Given the description of an element on the screen output the (x, y) to click on. 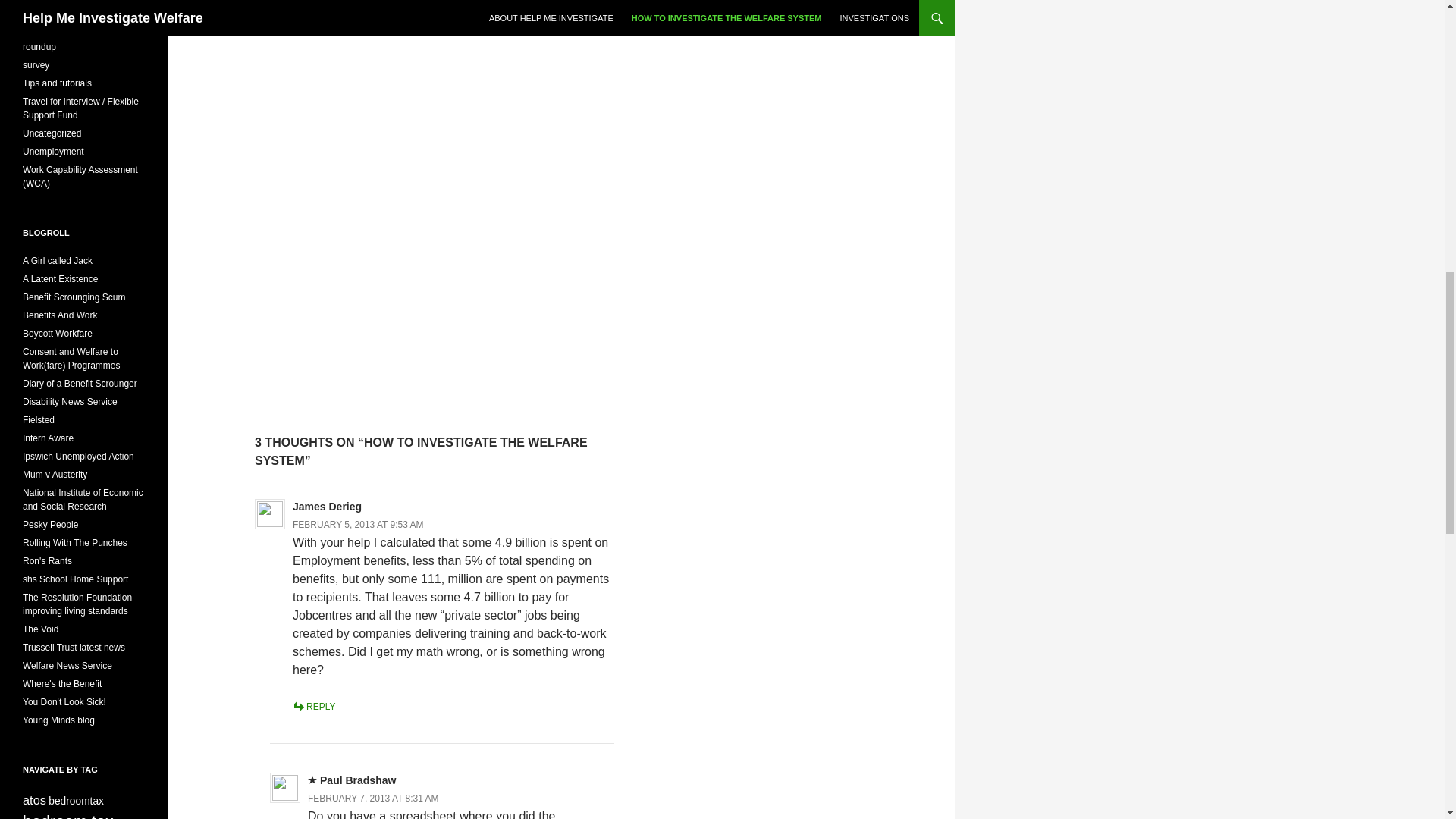
FEBRUARY 5, 2013 AT 9:53 AM (357, 524)
A national campaigning group for fair, paid internships (48, 438)
REPLY (313, 706)
3 topics (75, 800)
7 topics (68, 815)
FEBRUARY 7, 2013 AT 8:31 AM (373, 798)
4 topics (34, 799)
